Given the description of an element on the screen output the (x, y) to click on. 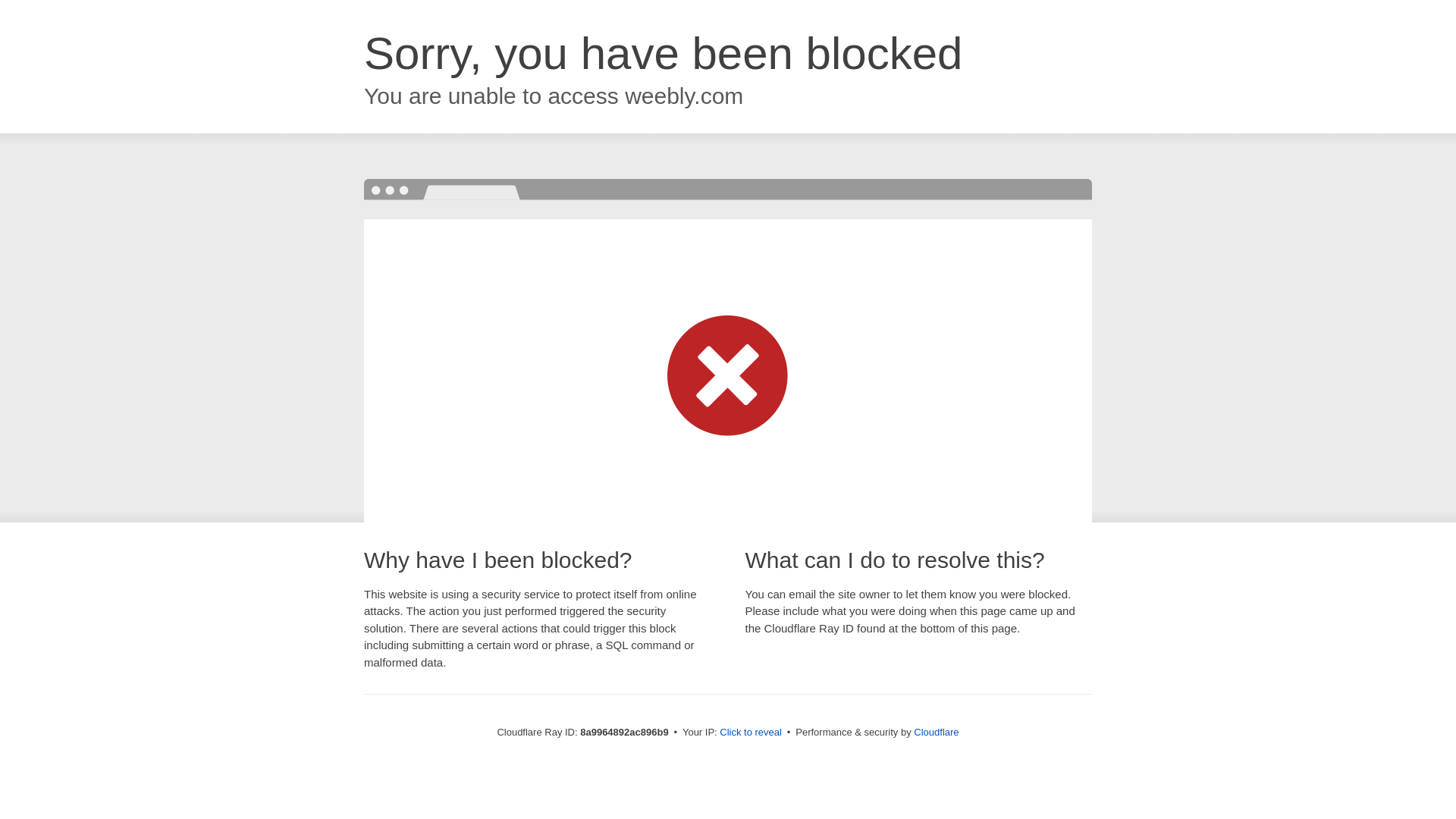
Cloudflare (936, 731)
Click to reveal (750, 732)
